Given the description of an element on the screen output the (x, y) to click on. 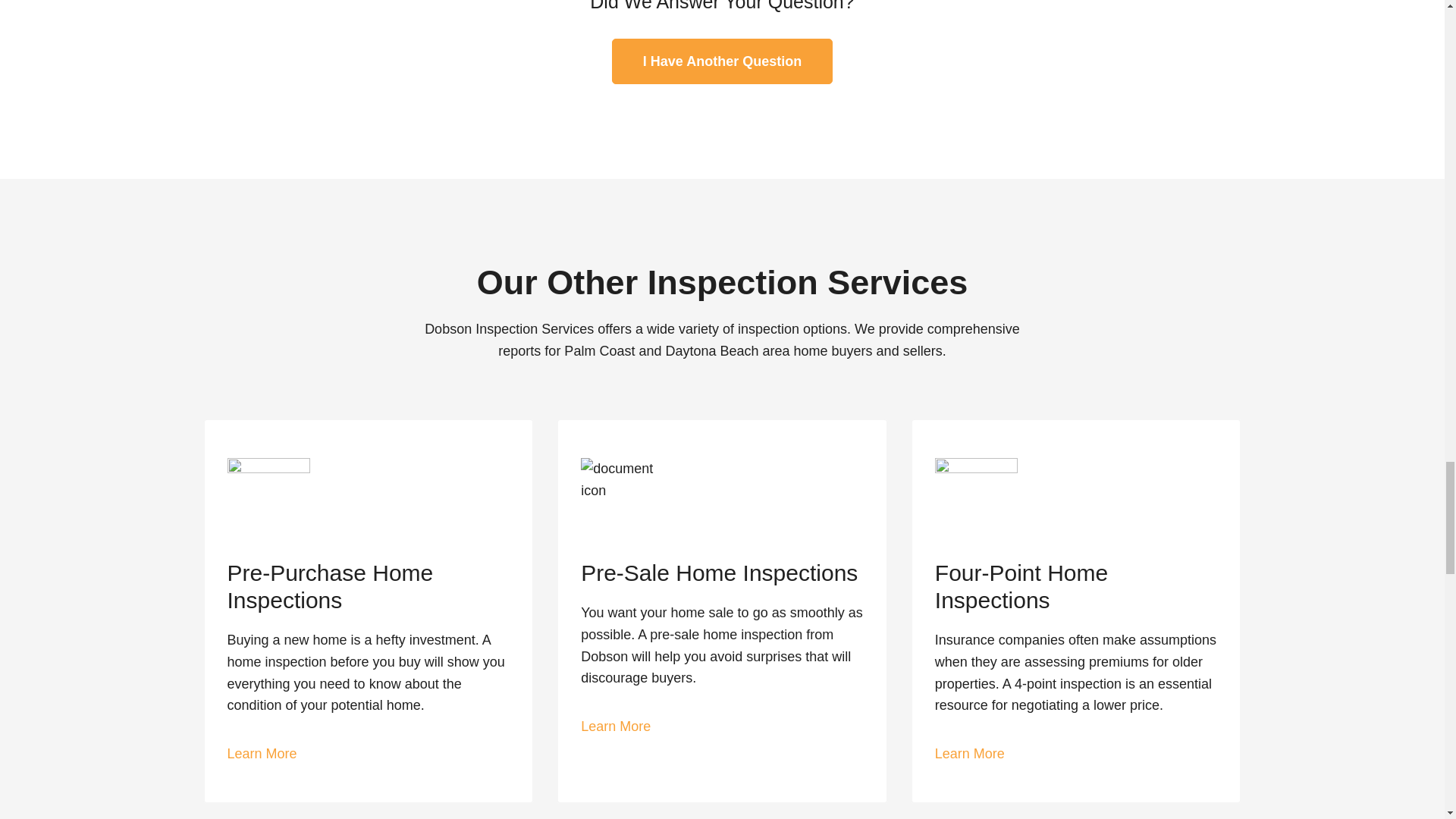
I Have Another Question (721, 61)
Learn More (615, 726)
Learn More (969, 753)
Learn More (262, 753)
